Given the description of an element on the screen output the (x, y) to click on. 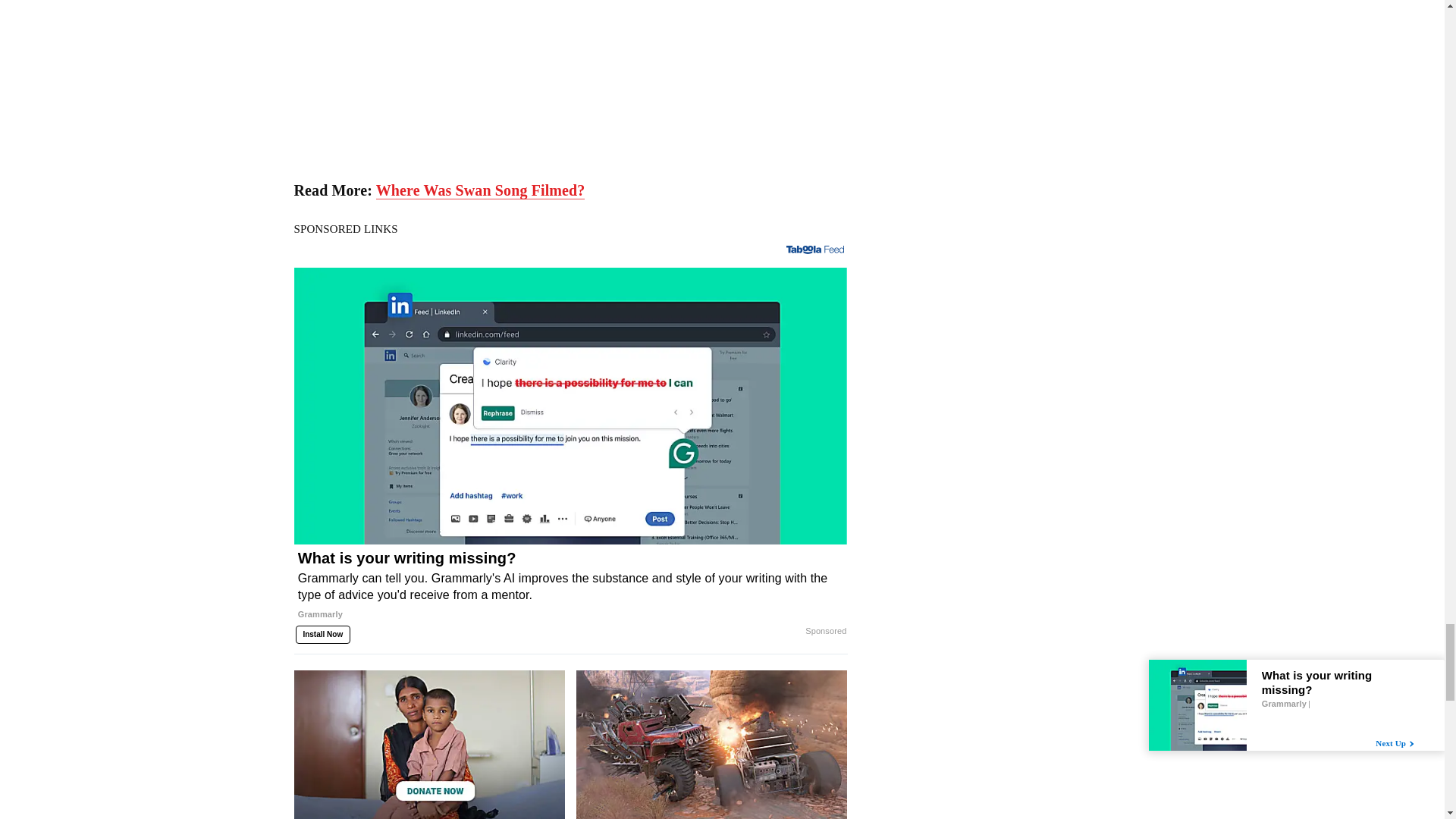
Sponsored (825, 631)
Where Was Swan Song Filmed? (480, 190)
What is your writing missing? (570, 591)
Install Now (322, 634)
